Given the description of an element on the screen output the (x, y) to click on. 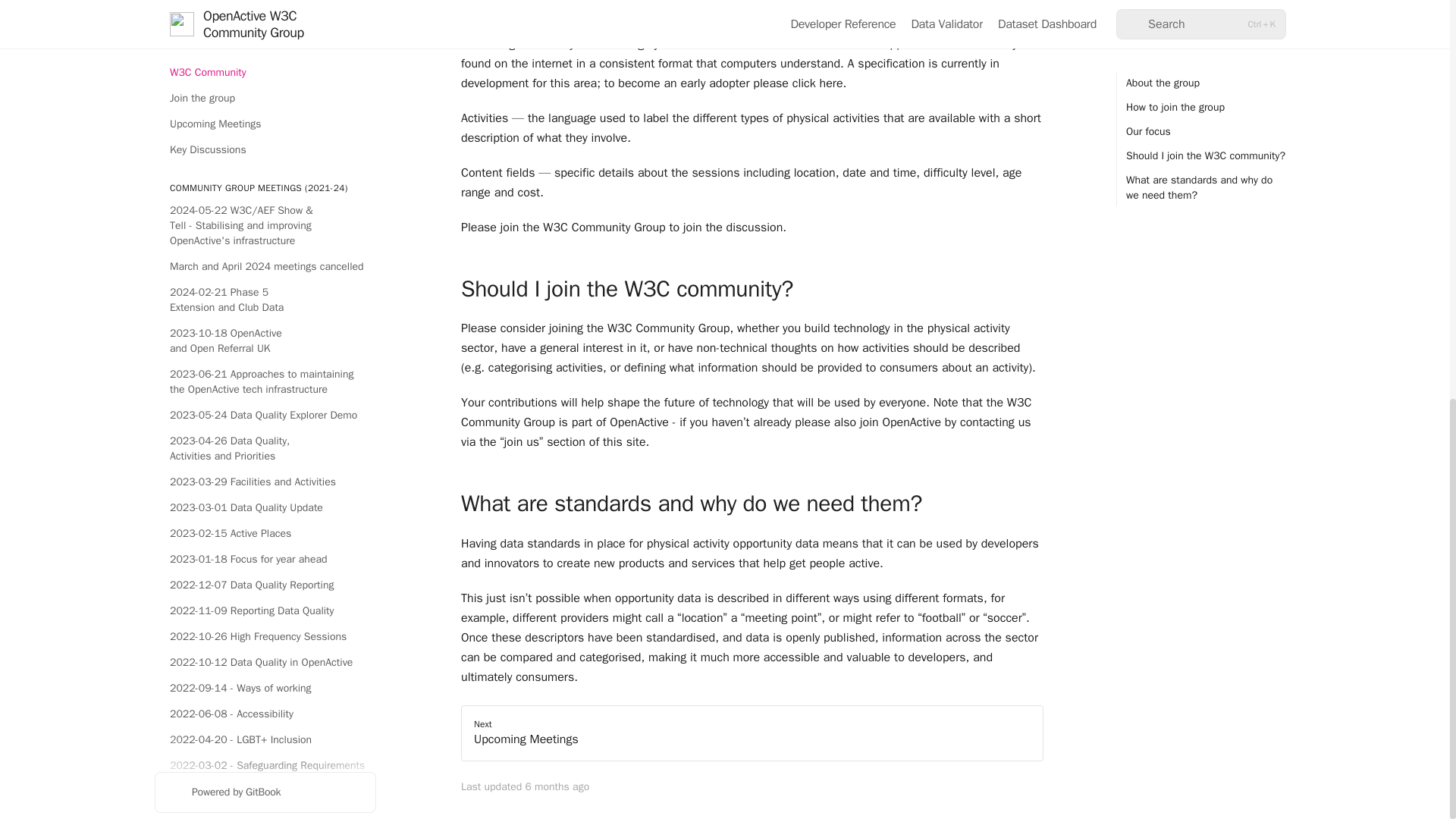
2021-10-13 - Membership Proposal Review (264, 179)
2021-09-29 - Requirements for the Membership Proposal (264, 220)
2021-10-27 - Terminology in the Membership Proposal (264, 138)
2022-02-02 - Block Bookings (264, 13)
2021-11-24 - Dependent Accounts (264, 79)
2021-11-10 - Access Pass Requirements (264, 105)
